Given the description of an element on the screen output the (x, y) to click on. 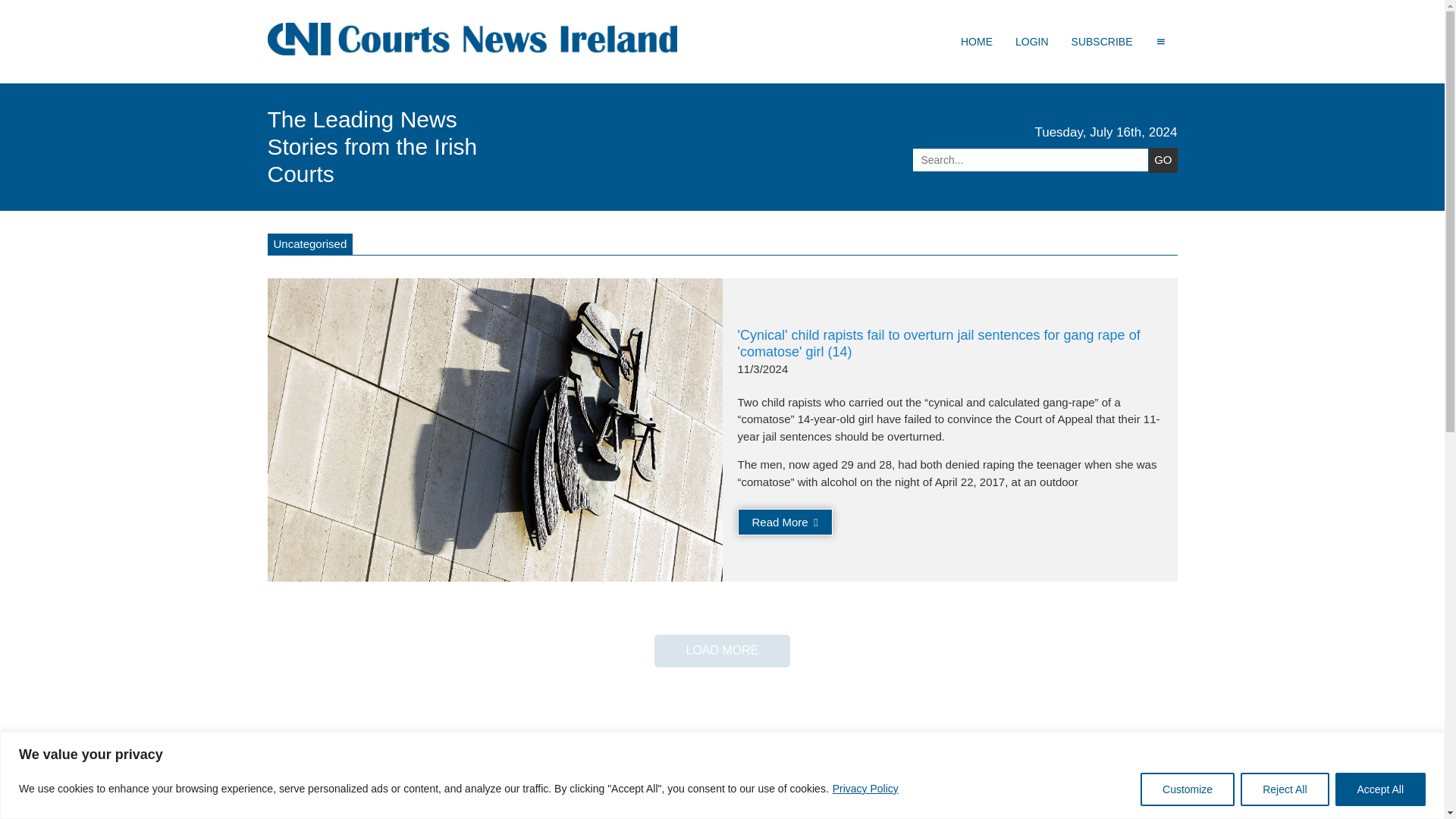
Accept All (1380, 788)
SUBSCRIBE (1101, 41)
Reject All (1283, 788)
Privacy Policy (865, 788)
Customize (1187, 788)
GO (1162, 159)
HOME (976, 41)
LOGIN (1031, 41)
